Given the description of an element on the screen output the (x, y) to click on. 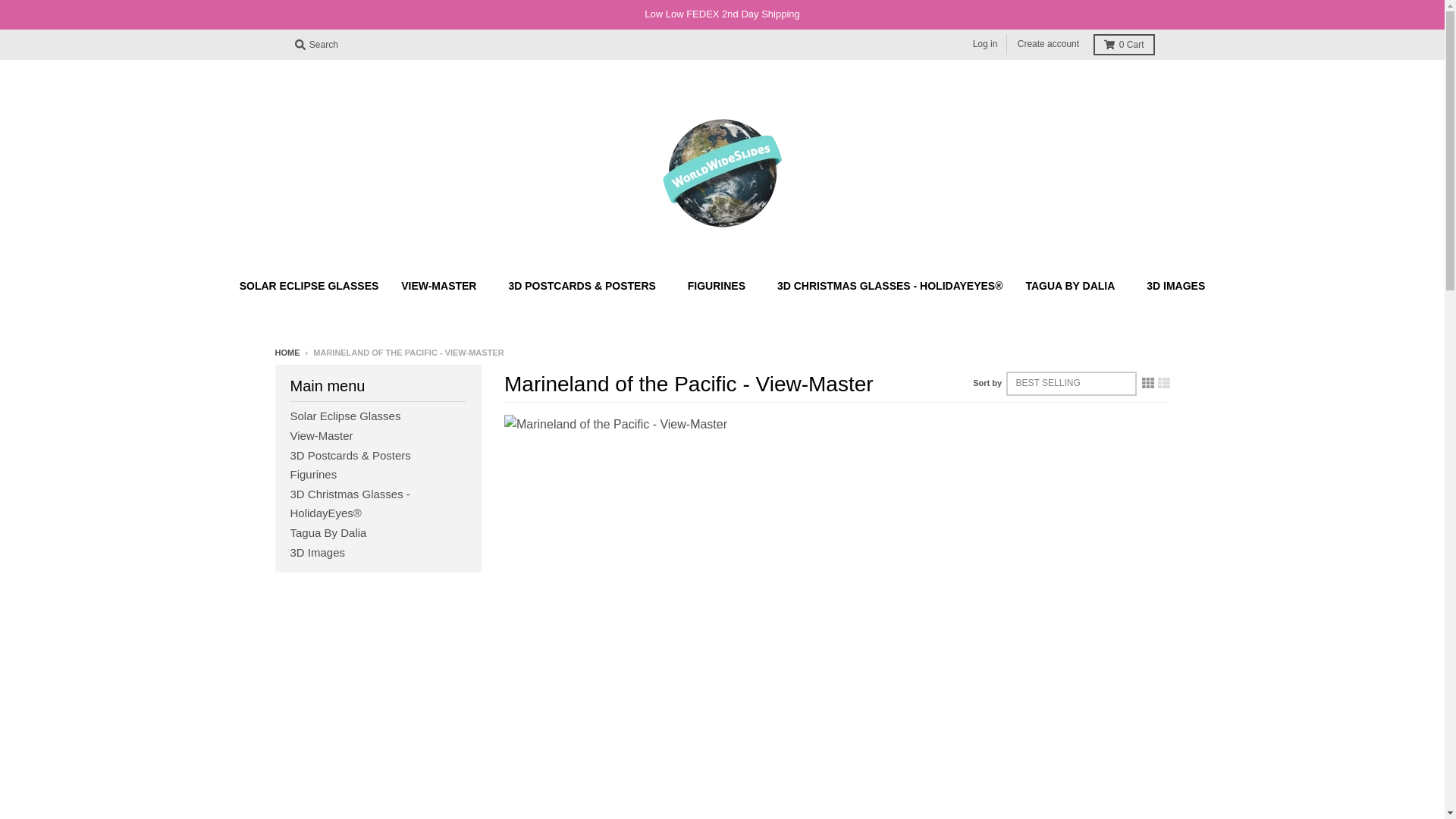
Search (315, 44)
Back to the frontpage (287, 352)
VIEW-MASTER (443, 285)
Log in (985, 44)
Create account (1048, 44)
SOLAR ECLIPSE GLASSES (309, 285)
0 Cart (1123, 44)
